Given the description of an element on the screen output the (x, y) to click on. 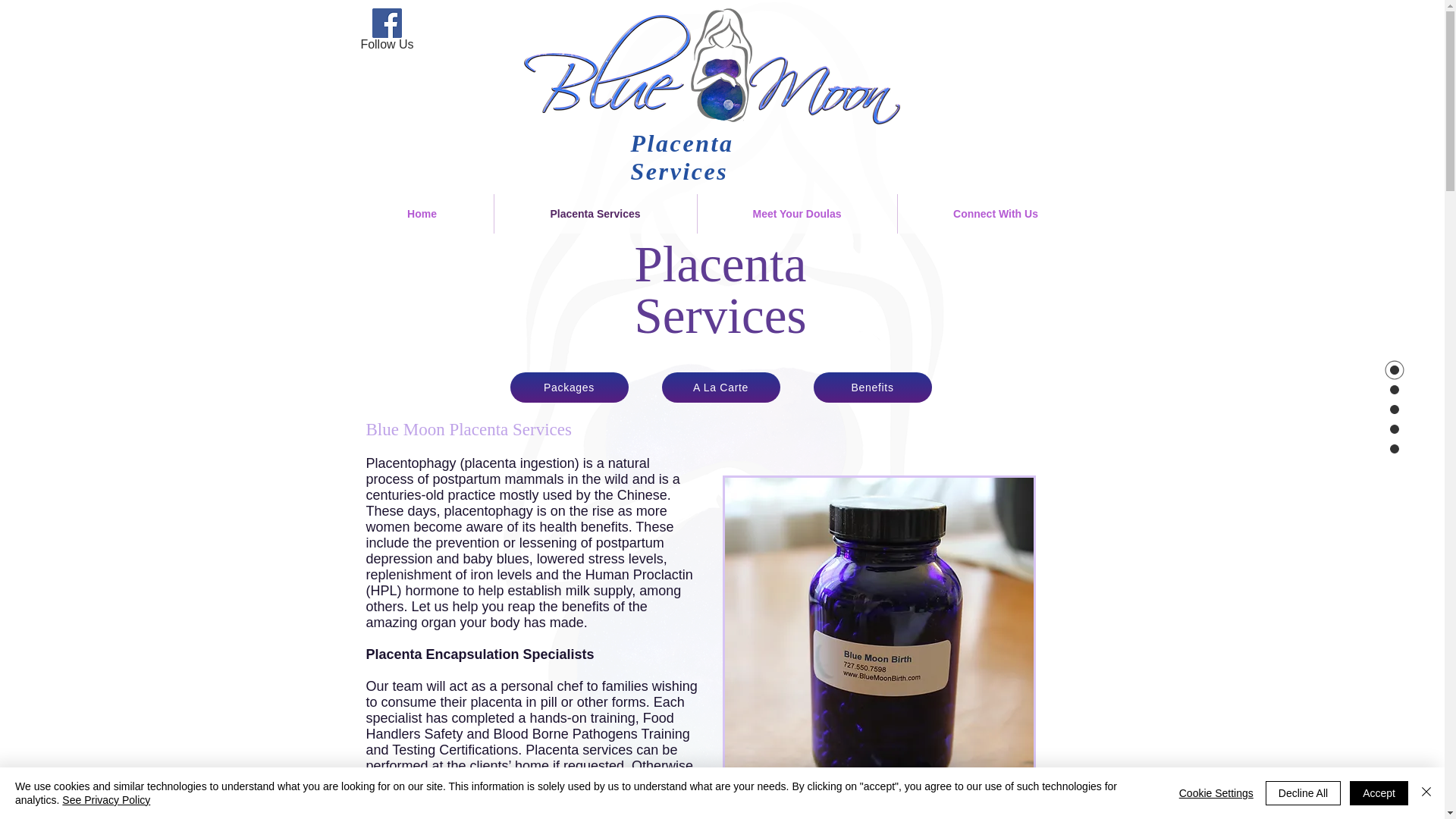
Decline All (1302, 793)
Packages (568, 387)
Placenta Services (596, 213)
Connect With Us (996, 213)
A La Carte (719, 387)
Accept (1378, 793)
See Privacy Policy (105, 799)
Meet Your Doulas (796, 213)
Home (421, 213)
Benefits (871, 387)
